Given the description of an element on the screen output the (x, y) to click on. 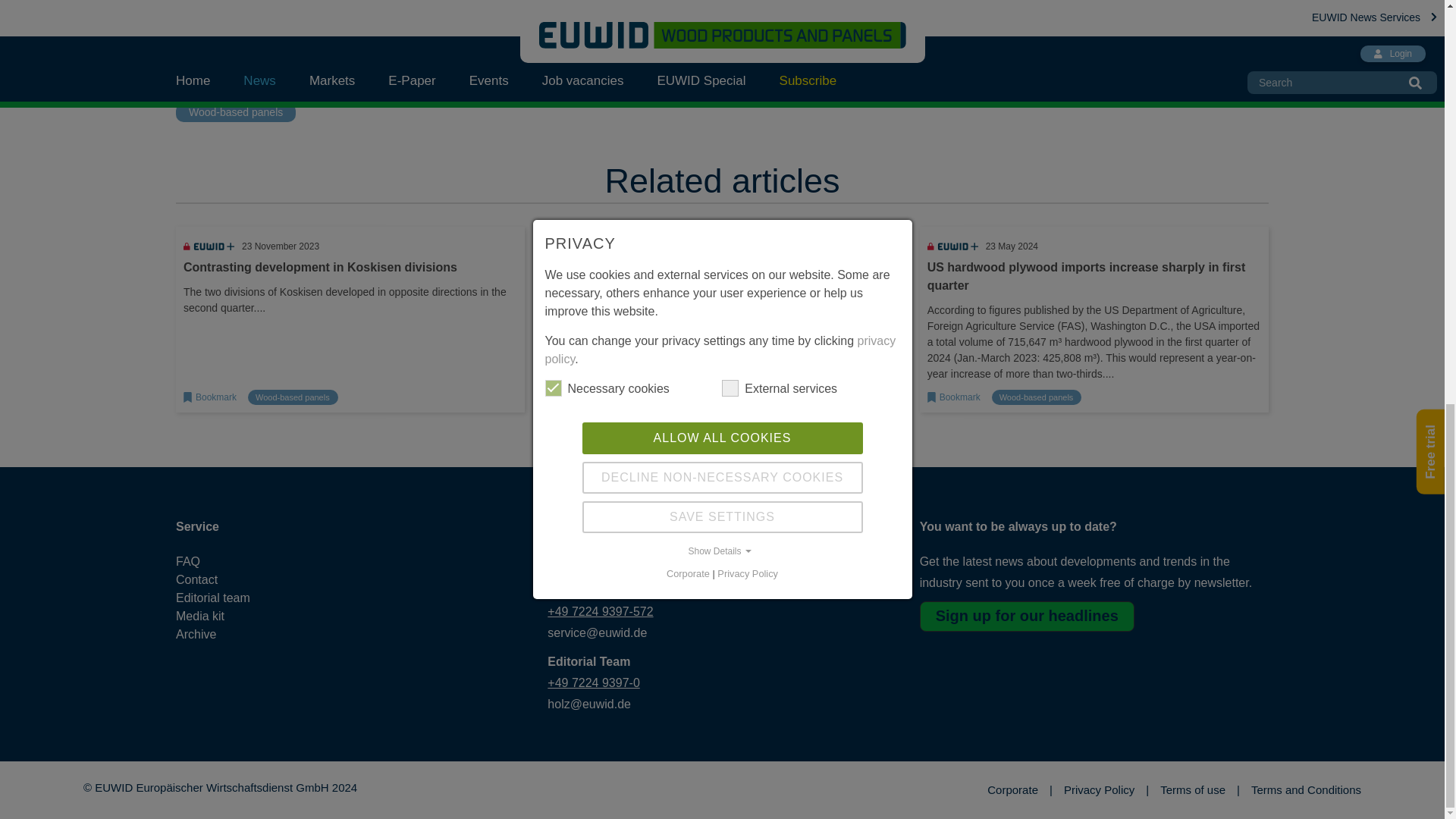
Corporate (1019, 790)
Wood-based panels (292, 397)
Terms and Conditions (1305, 790)
Terms of use (1200, 790)
Contrasting development in Koskisen divisions (320, 267)
Privacy Policy (1106, 790)
Wood-based panels (235, 111)
Editorial team (226, 597)
FAQ (226, 561)
Archive (226, 634)
Media kit (226, 616)
Contact (226, 579)
tropical plywood (352, 64)
hardwood plywood (233, 64)
